Given the description of an element on the screen output the (x, y) to click on. 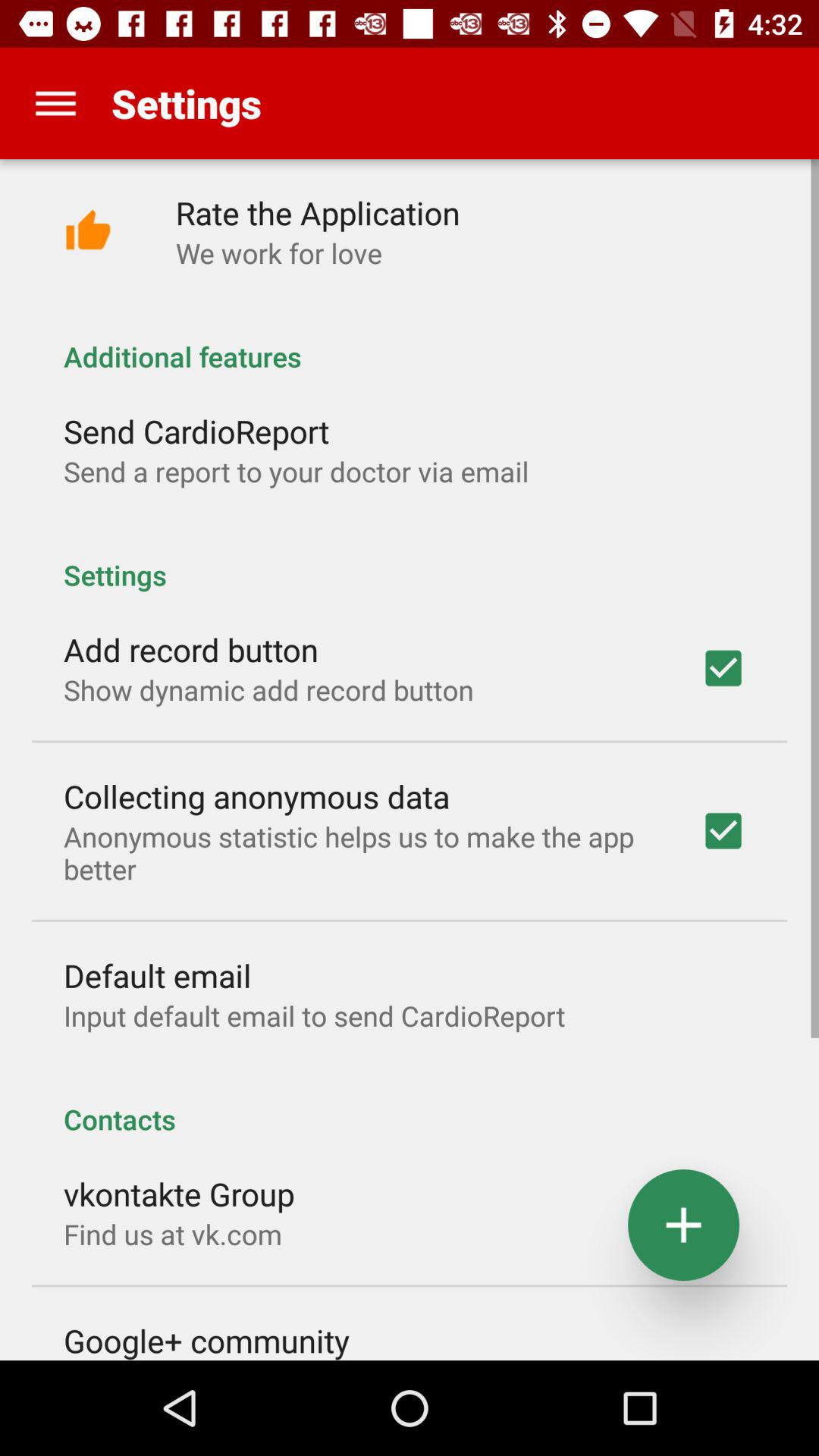
press icon above additional features app (278, 252)
